Given the description of an element on the screen output the (x, y) to click on. 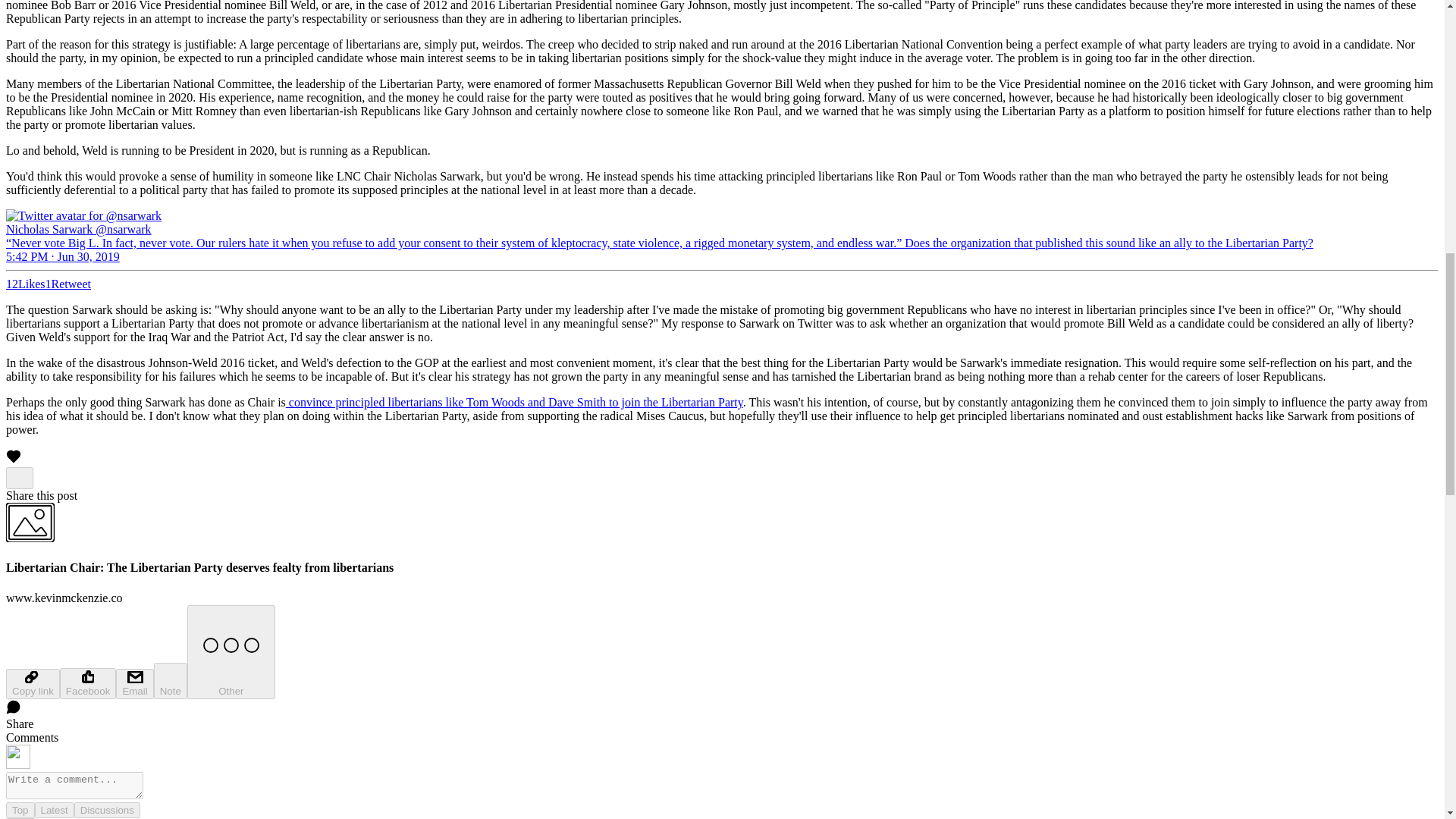
Facebook (87, 683)
Copy link (32, 684)
Discussions (106, 810)
Note (170, 680)
Email (134, 684)
Other (231, 652)
Top (19, 810)
Latest (54, 810)
